Given the description of an element on the screen output the (x, y) to click on. 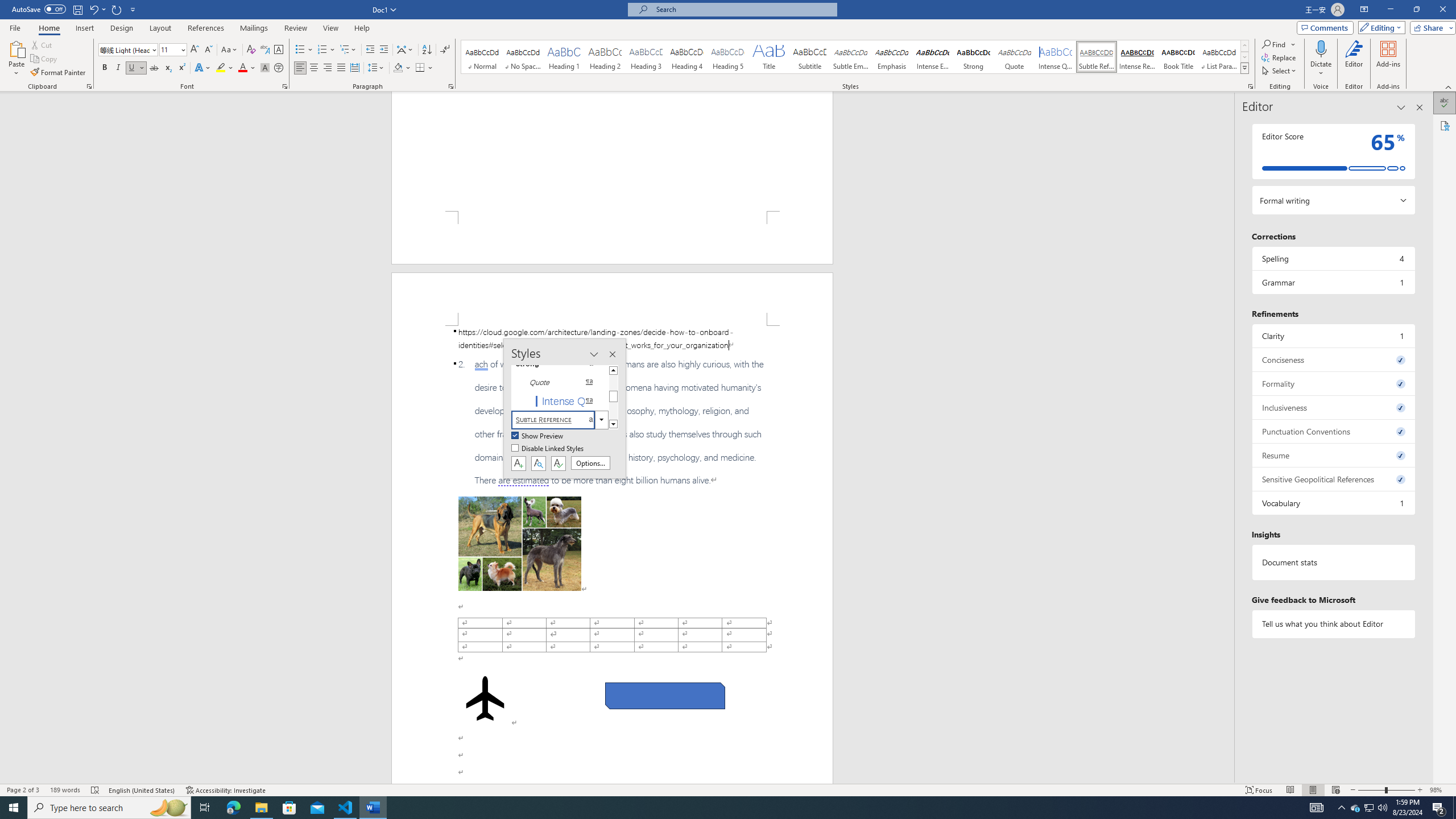
Subtle Reference (1095, 56)
Subtitle (809, 56)
Vocabulary, 1 issue. Press space or enter to review items. (1333, 502)
Change Case (229, 49)
Clarity, 1 issue. Press space or enter to review items. (1333, 335)
Text Effects and Typography (202, 67)
Align Left (300, 67)
Page Number Page 2 of 3 (22, 790)
Enclose Characters... (278, 67)
